Given the description of an element on the screen output the (x, y) to click on. 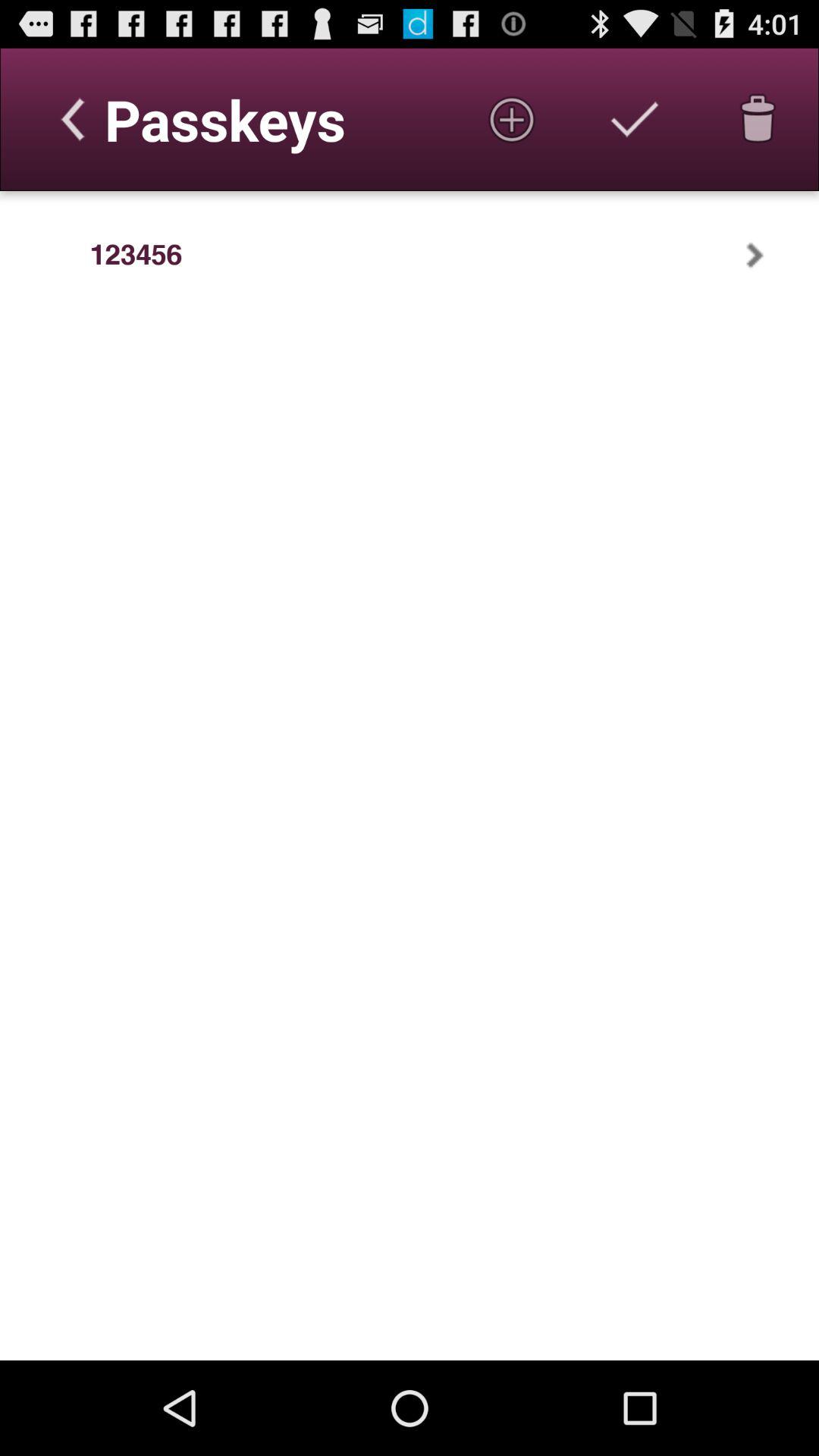
press icon at the top (511, 119)
